Given the description of an element on the screen output the (x, y) to click on. 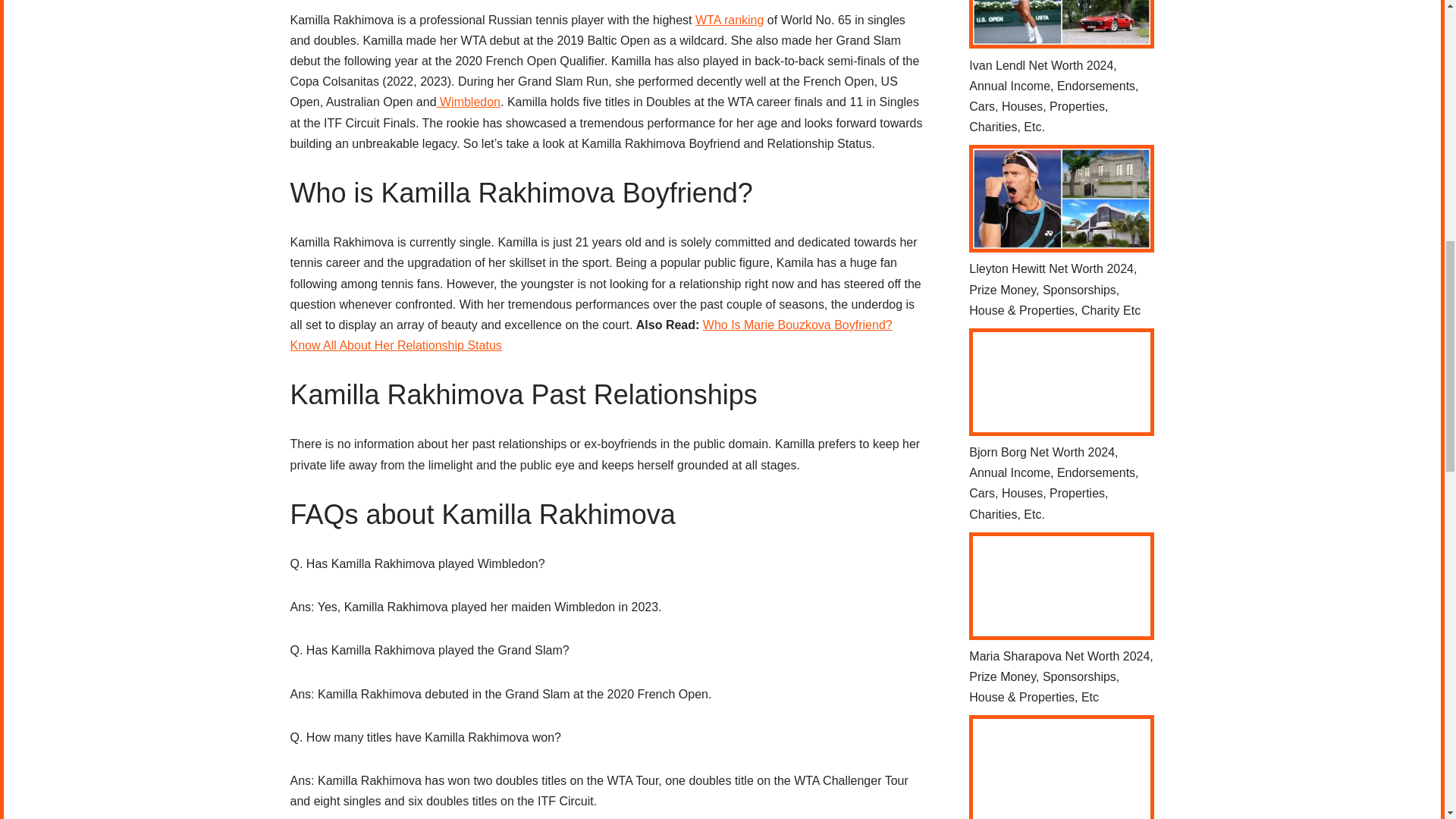
WTA ranking (728, 19)
Wimbledon (468, 101)
